Given the description of an element on the screen output the (x, y) to click on. 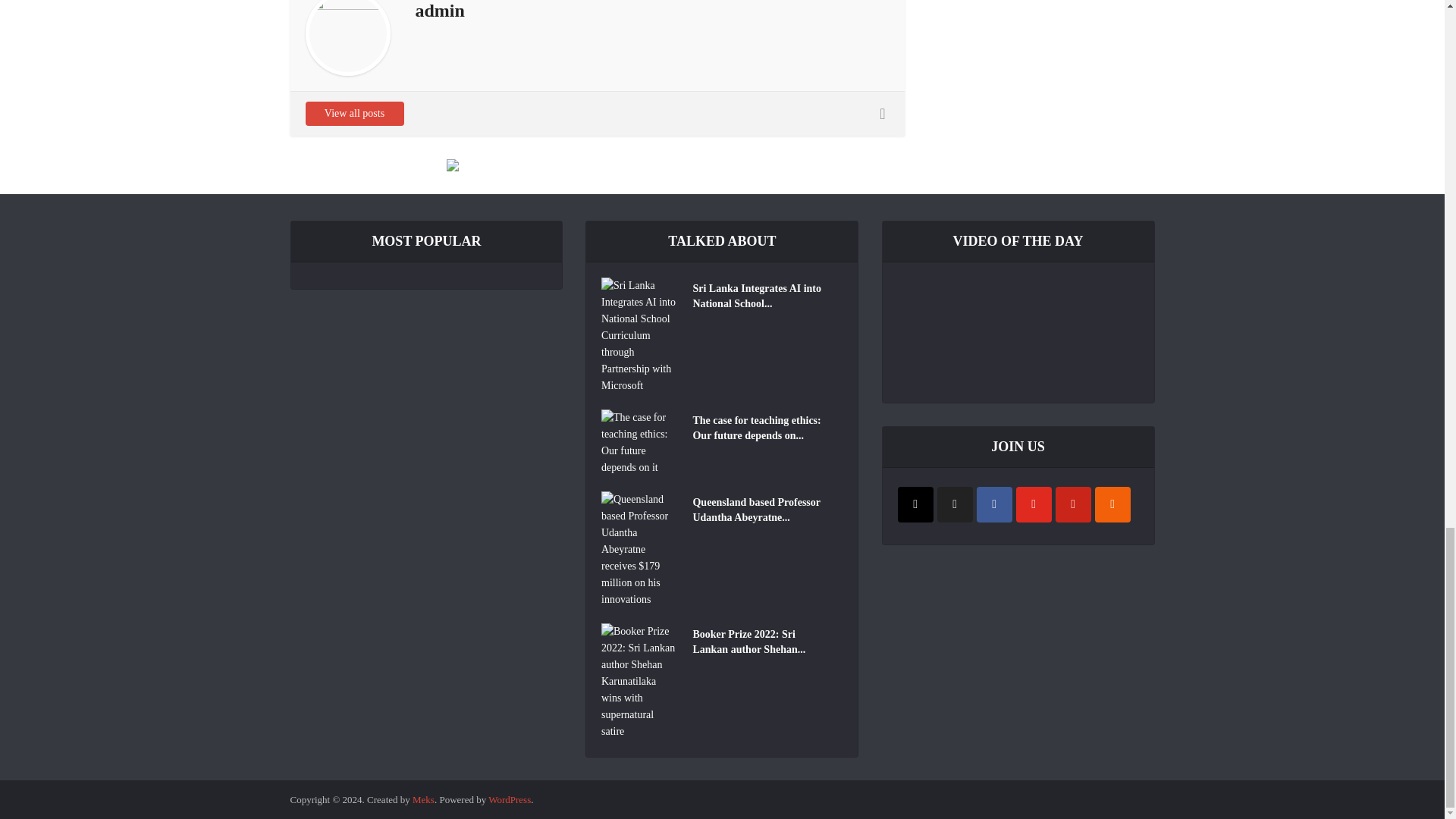
View all posts (353, 113)
The case for teaching ethics: Our future depends on it (764, 426)
